Given the description of an element on the screen output the (x, y) to click on. 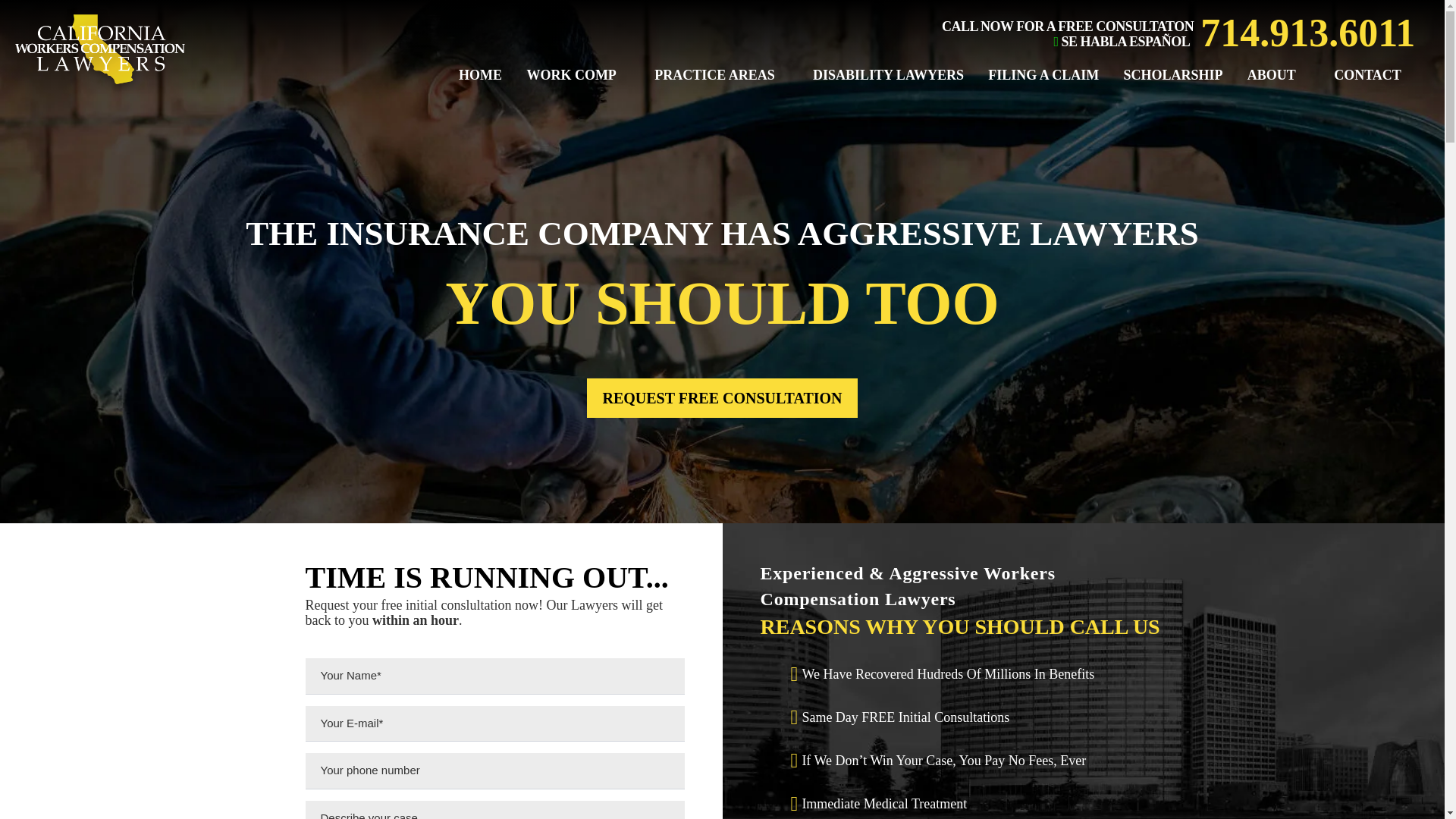
714.913.6011 (1307, 32)
WORK COMP (567, 75)
PRACTICE AREAS (709, 75)
Welcome to California Workers Compensation Lawyers Website (99, 48)
Call California Workers Compensation Lawyers (1307, 32)
HOME (469, 75)
Free Inital Consultation (721, 397)
California Workers Compensation Lawyers Website (99, 86)
